Given the description of an element on the screen output the (x, y) to click on. 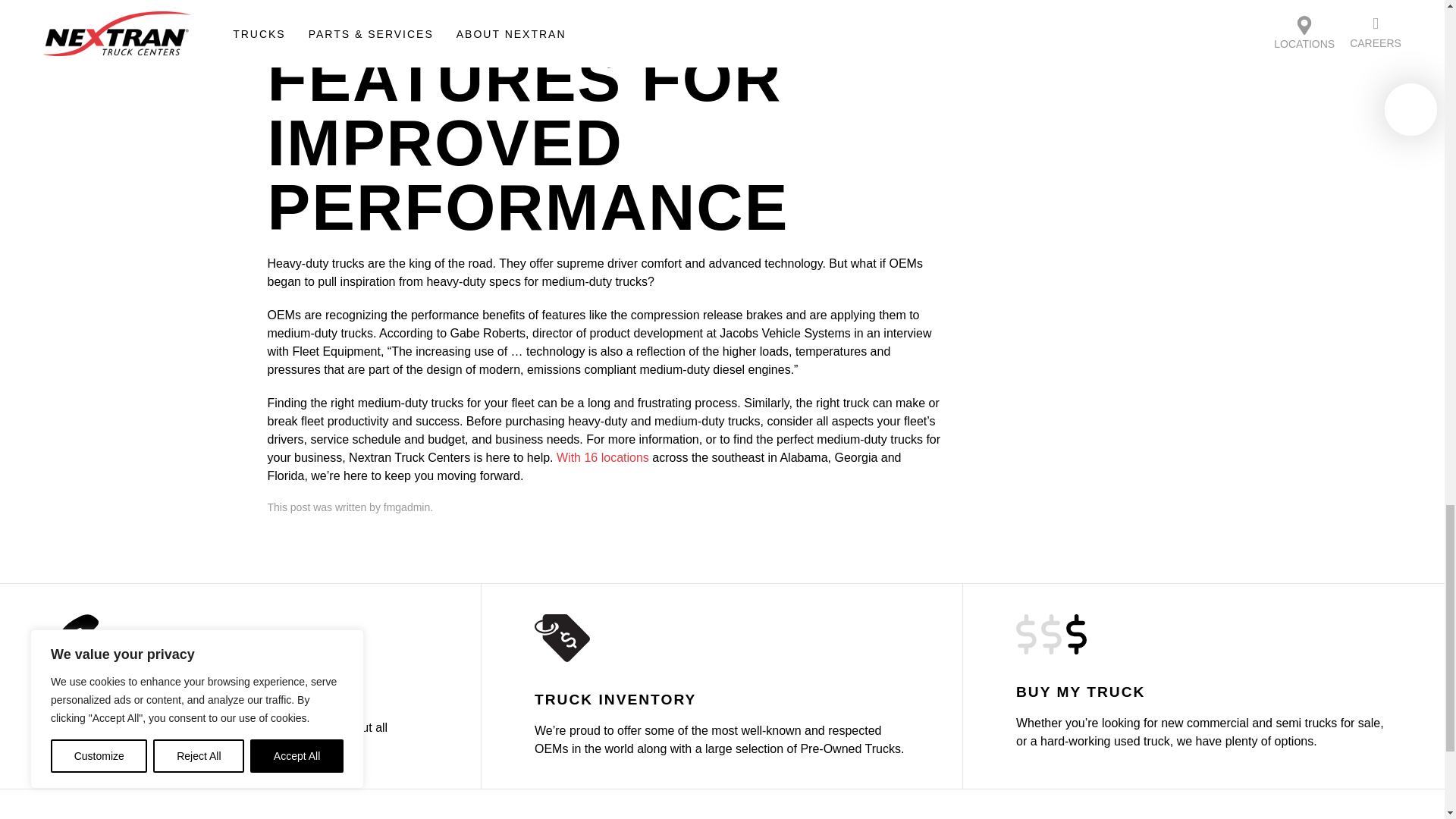
Locations (240, 685)
Truck Inventory (721, 685)
